Given the description of an element on the screen output the (x, y) to click on. 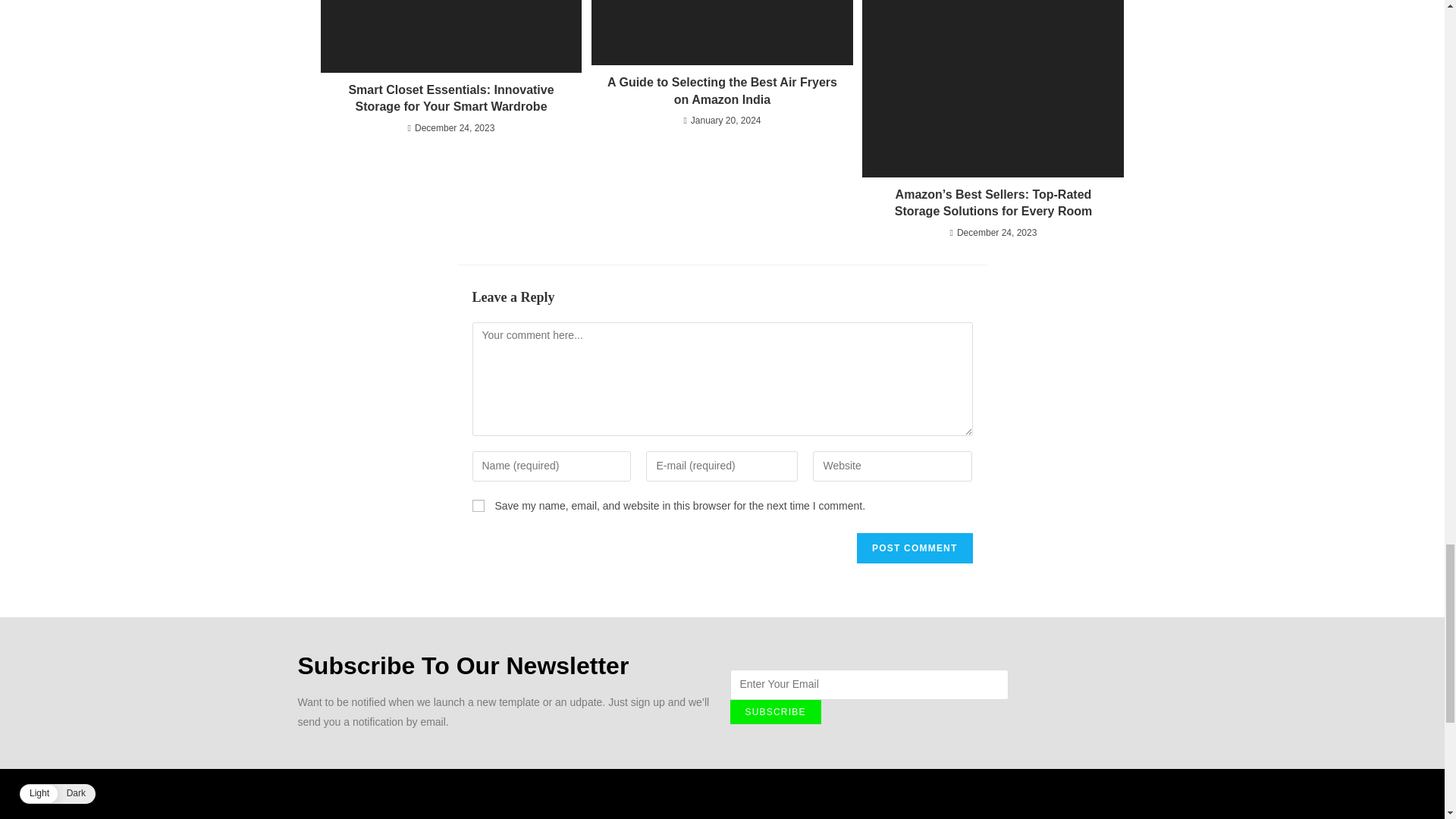
yes (477, 505)
Post Comment (914, 548)
Subscribe (775, 711)
